Given the description of an element on the screen output the (x, y) to click on. 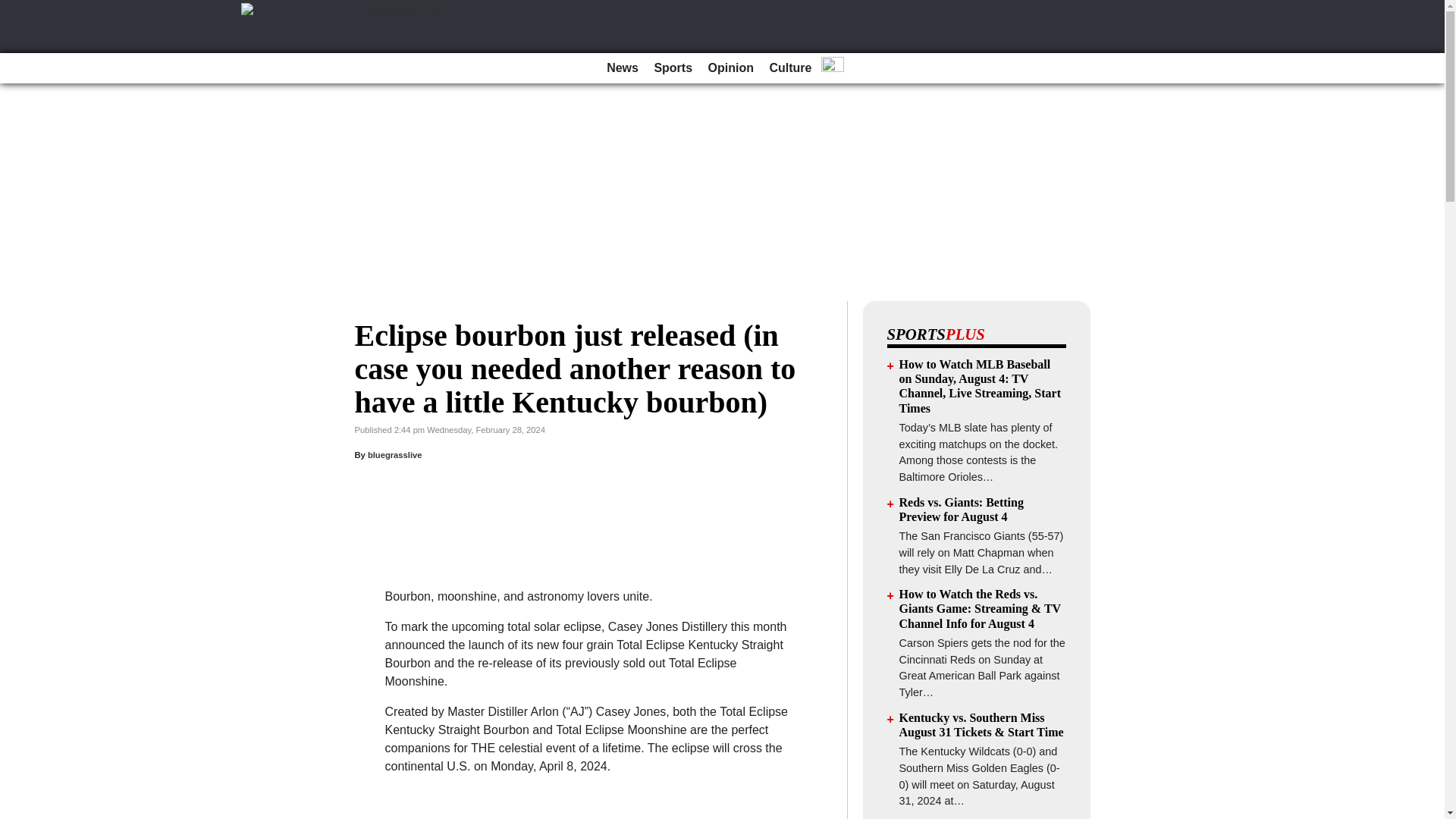
Go (13, 9)
Culture (789, 68)
Sports (672, 68)
bluegrasslive (395, 454)
Opinion (730, 68)
Reds vs. Giants: Betting Preview for August 4 (961, 509)
News (622, 68)
